Given the description of an element on the screen output the (x, y) to click on. 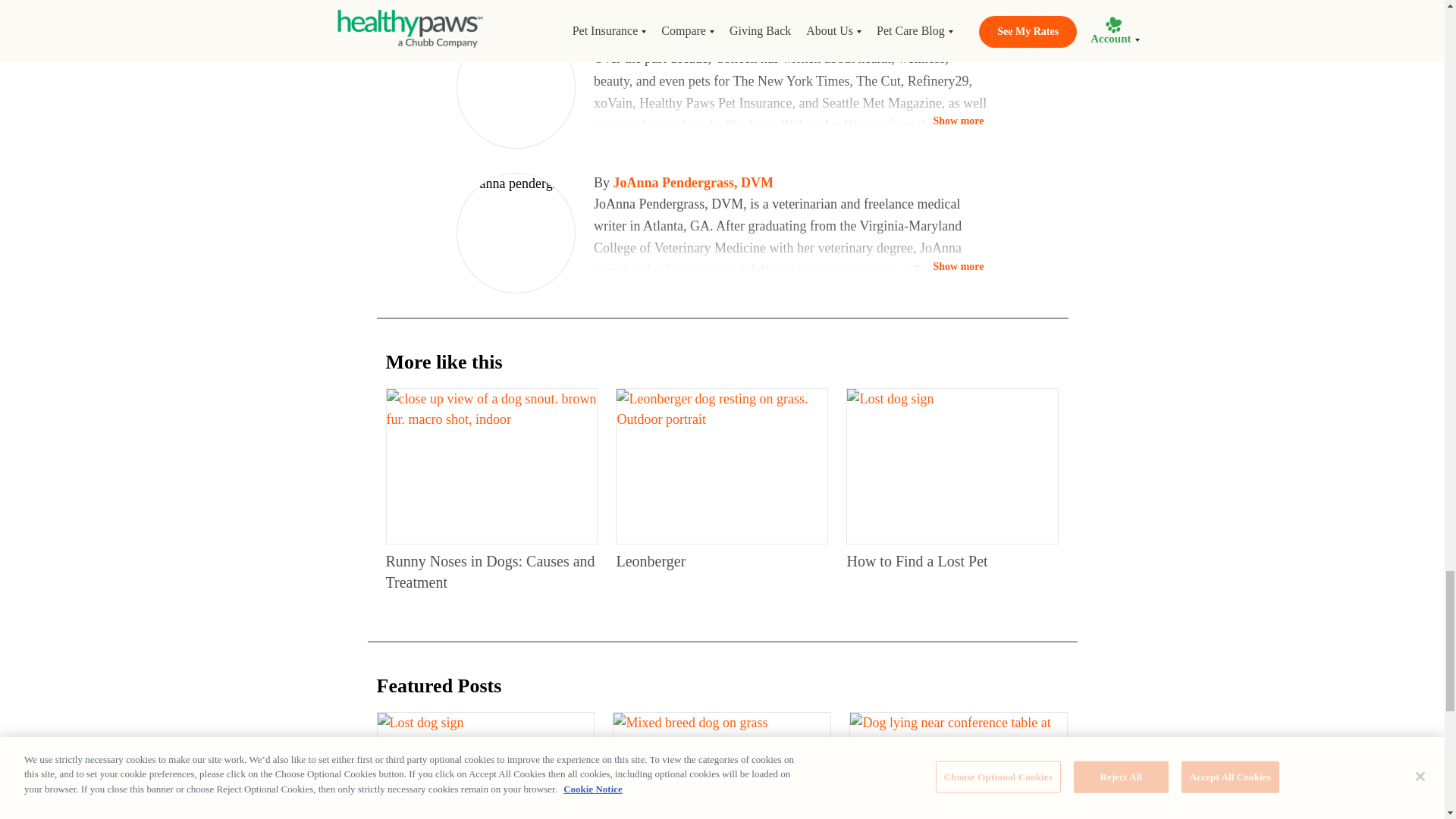
Runny Noses in Dogs: Causes and Treatment (489, 571)
Runny Noses in Dogs: Causes and Treatment (491, 465)
